Given the description of an element on the screen output the (x, y) to click on. 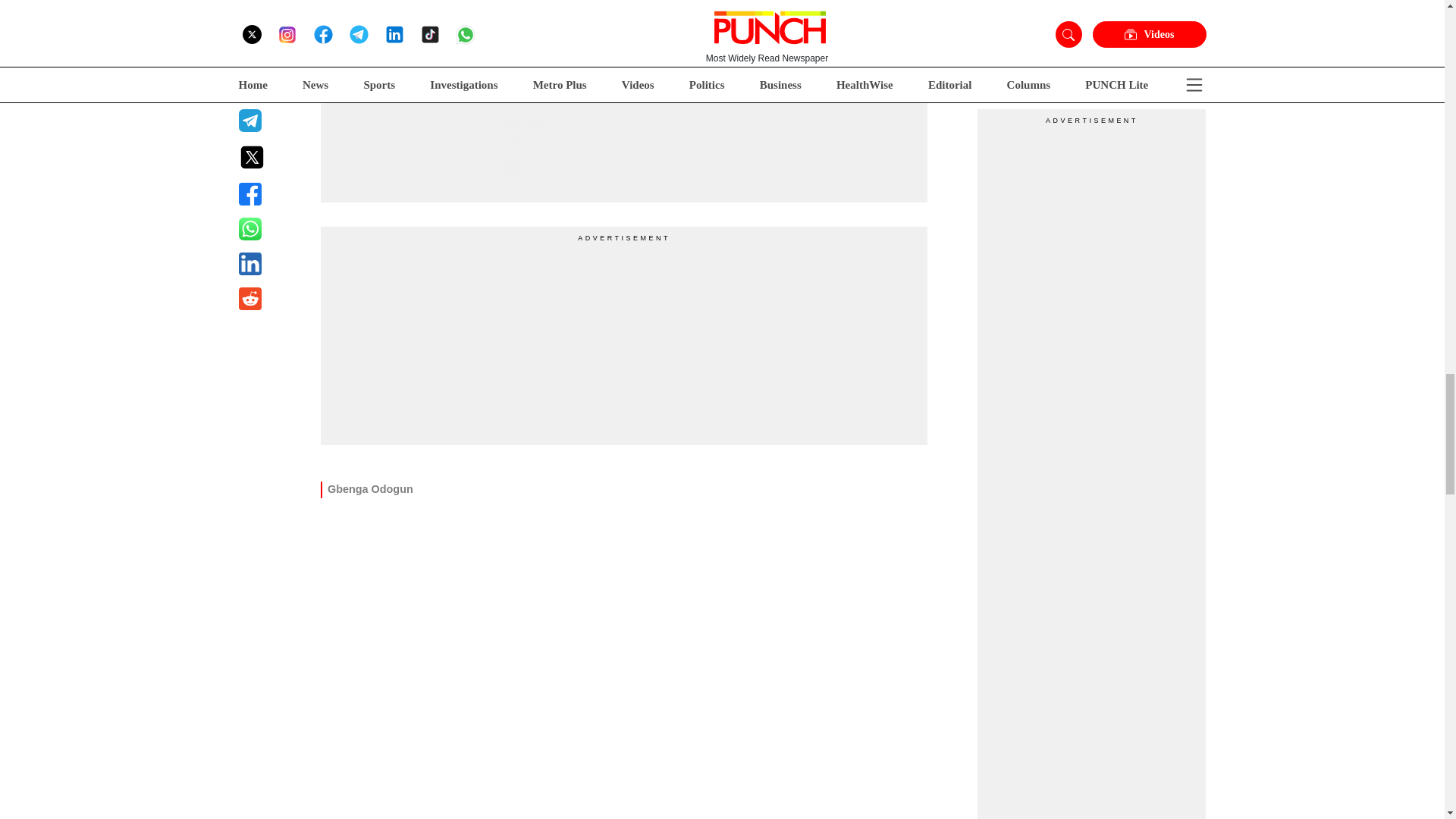
3rd party ad content (434, 92)
